Given the description of an element on the screen output the (x, y) to click on. 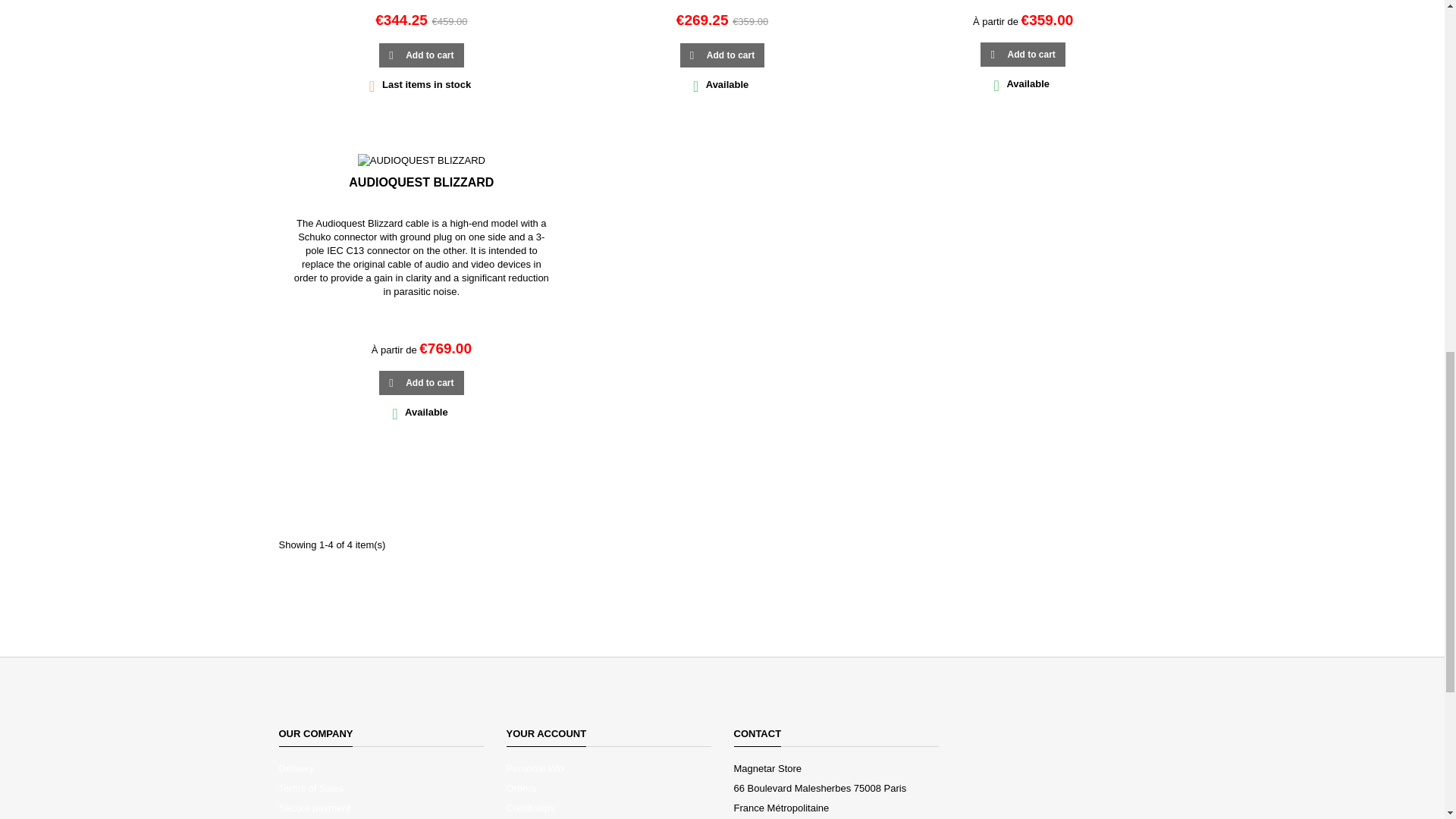
Credit slips (530, 808)
Orders (521, 787)
Our secure payment offer (314, 808)
Personal info (535, 767)
